Given the description of an element on the screen output the (x, y) to click on. 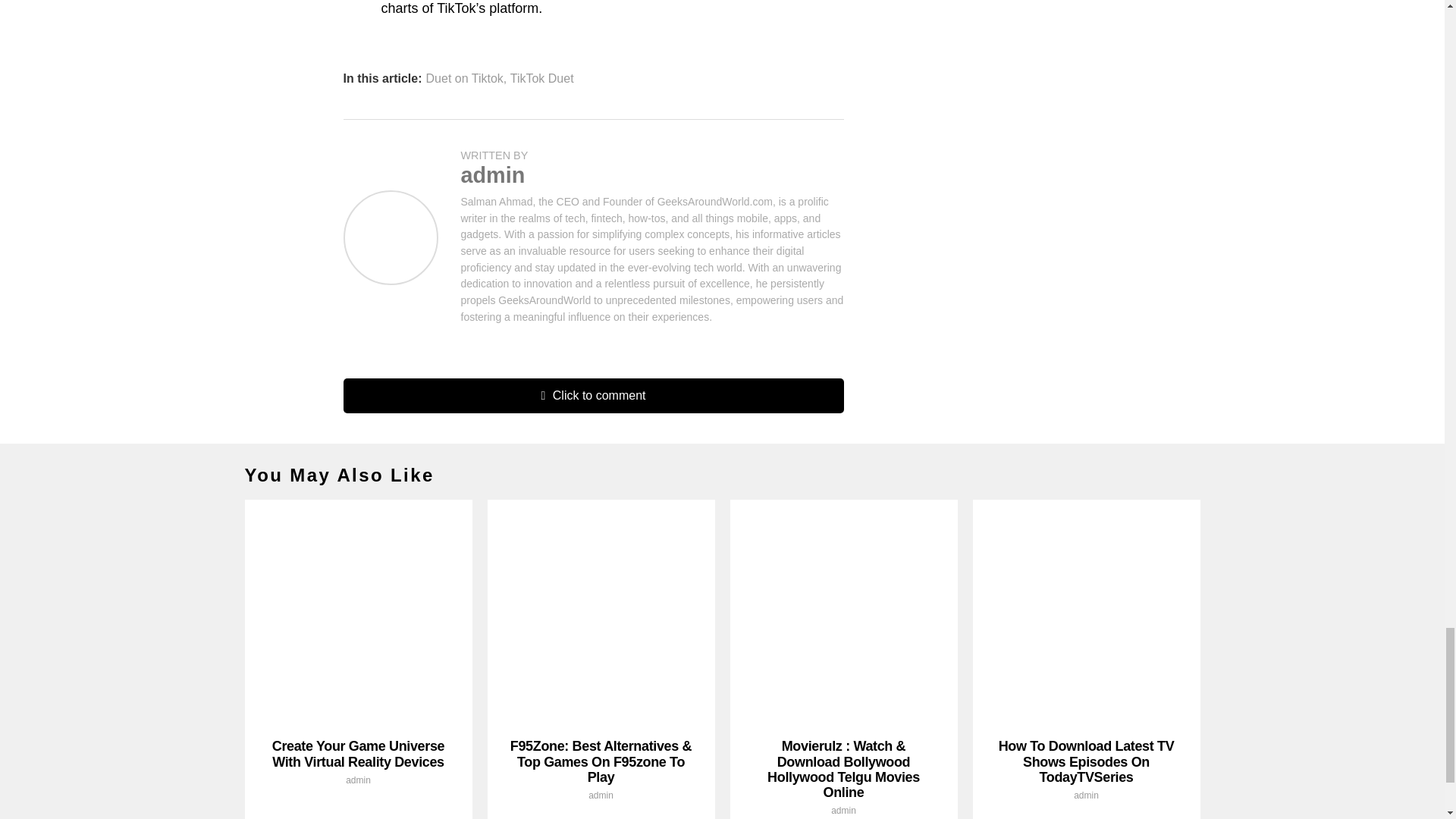
Posts by admin (600, 795)
Posts by admin (493, 174)
Posts by admin (358, 779)
Posts by admin (843, 810)
Posts by admin (1086, 795)
